Given the description of an element on the screen output the (x, y) to click on. 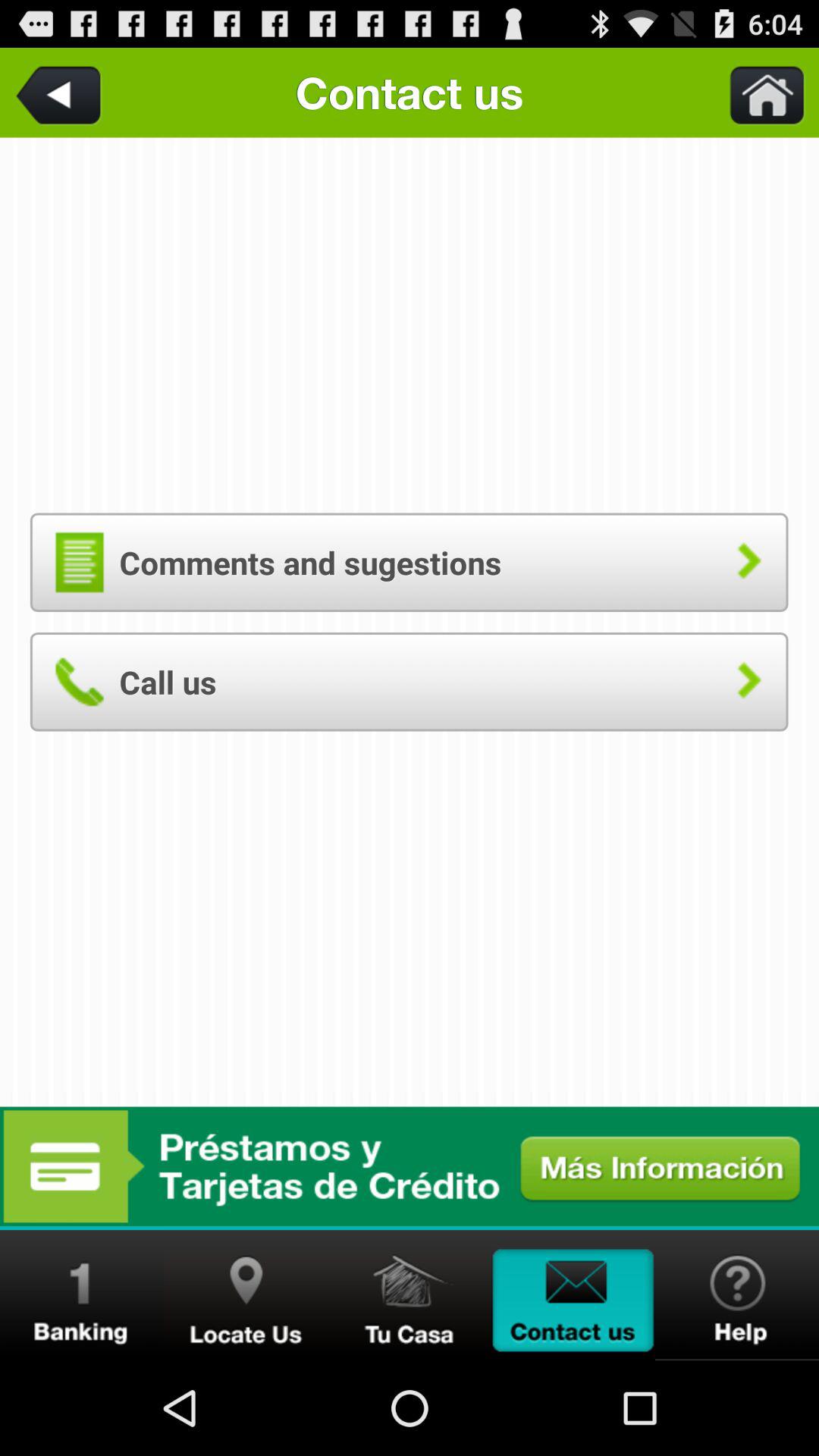
select the item to the left of the contact us app (61, 92)
